Given the description of an element on the screen output the (x, y) to click on. 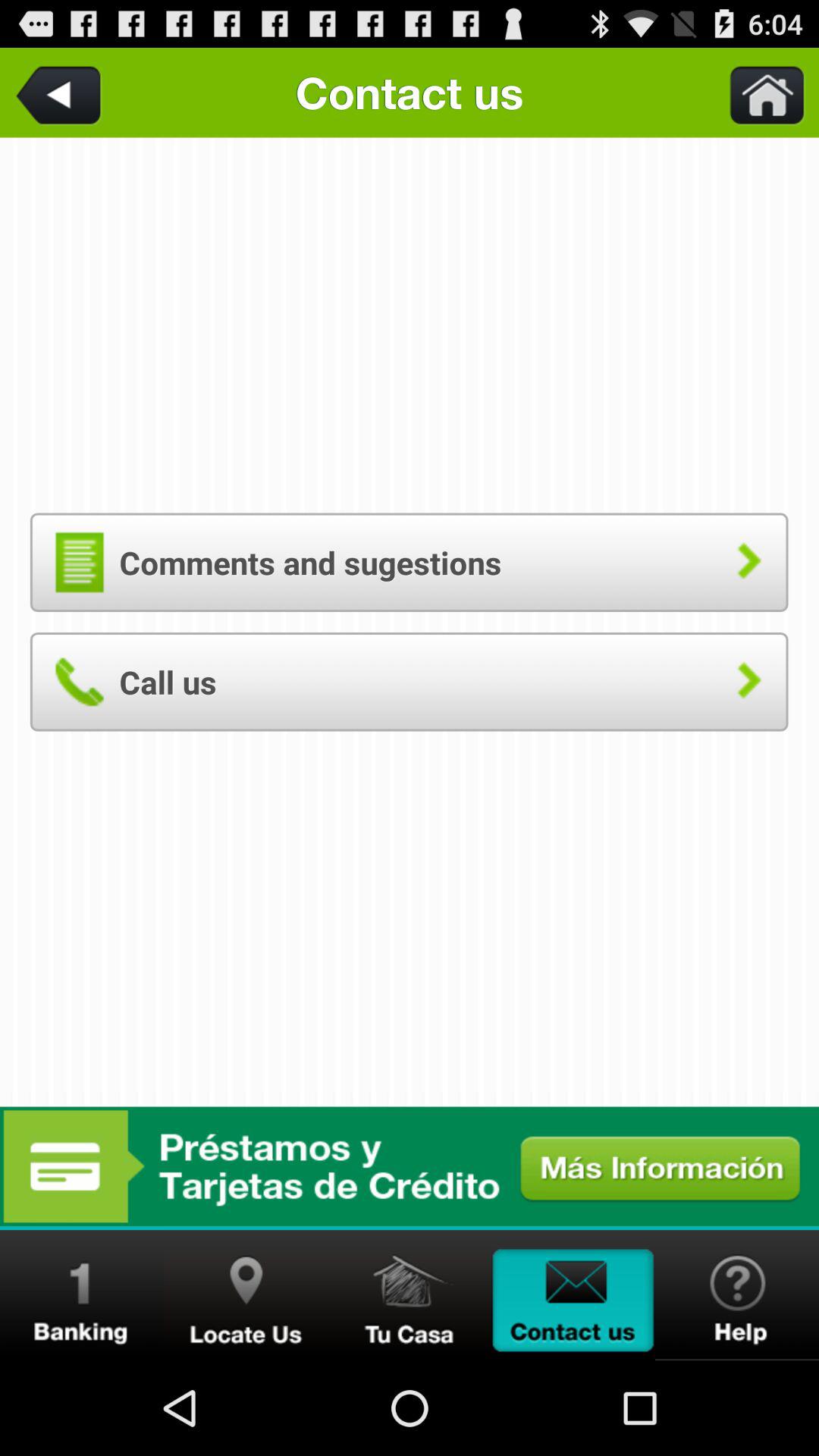
open contacts page (573, 1295)
